Given the description of an element on the screen output the (x, y) to click on. 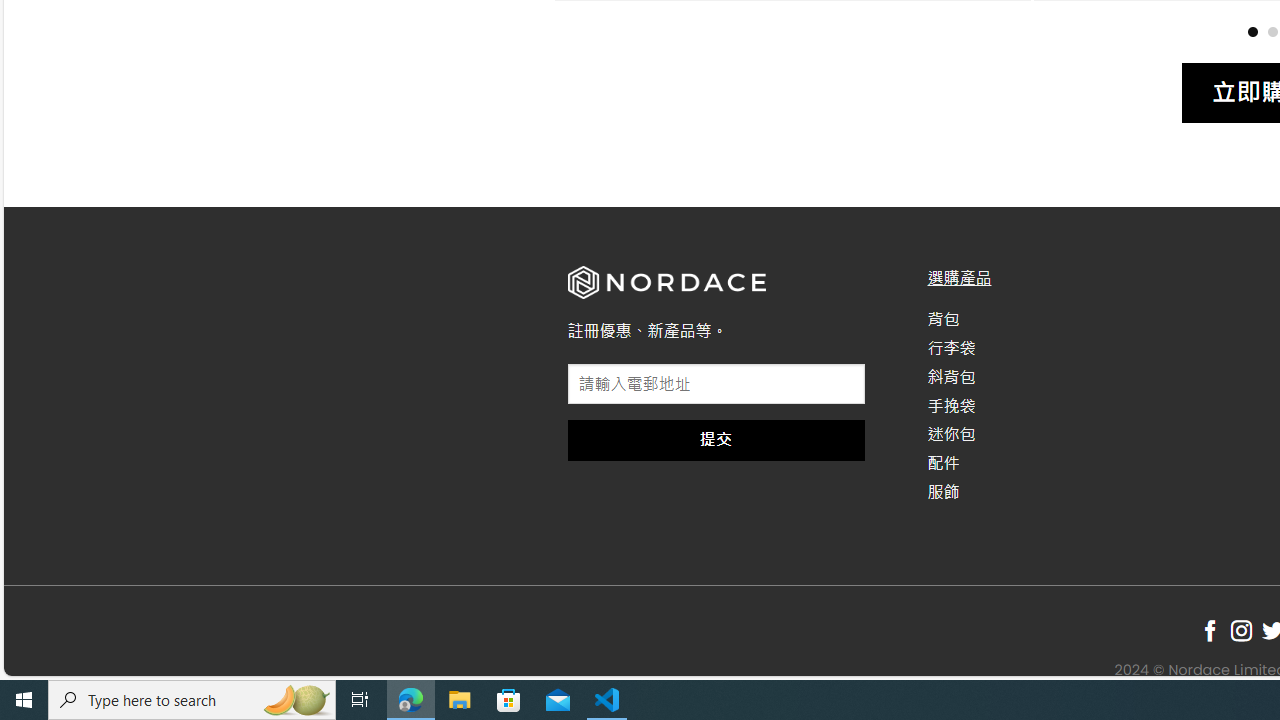
Follow on Instagram (1241, 631)
Follow on Facebook (1210, 631)
Page dot 2 (1272, 30)
AutomationID: input_4_1 (716, 384)
